Given the description of an element on the screen output the (x, y) to click on. 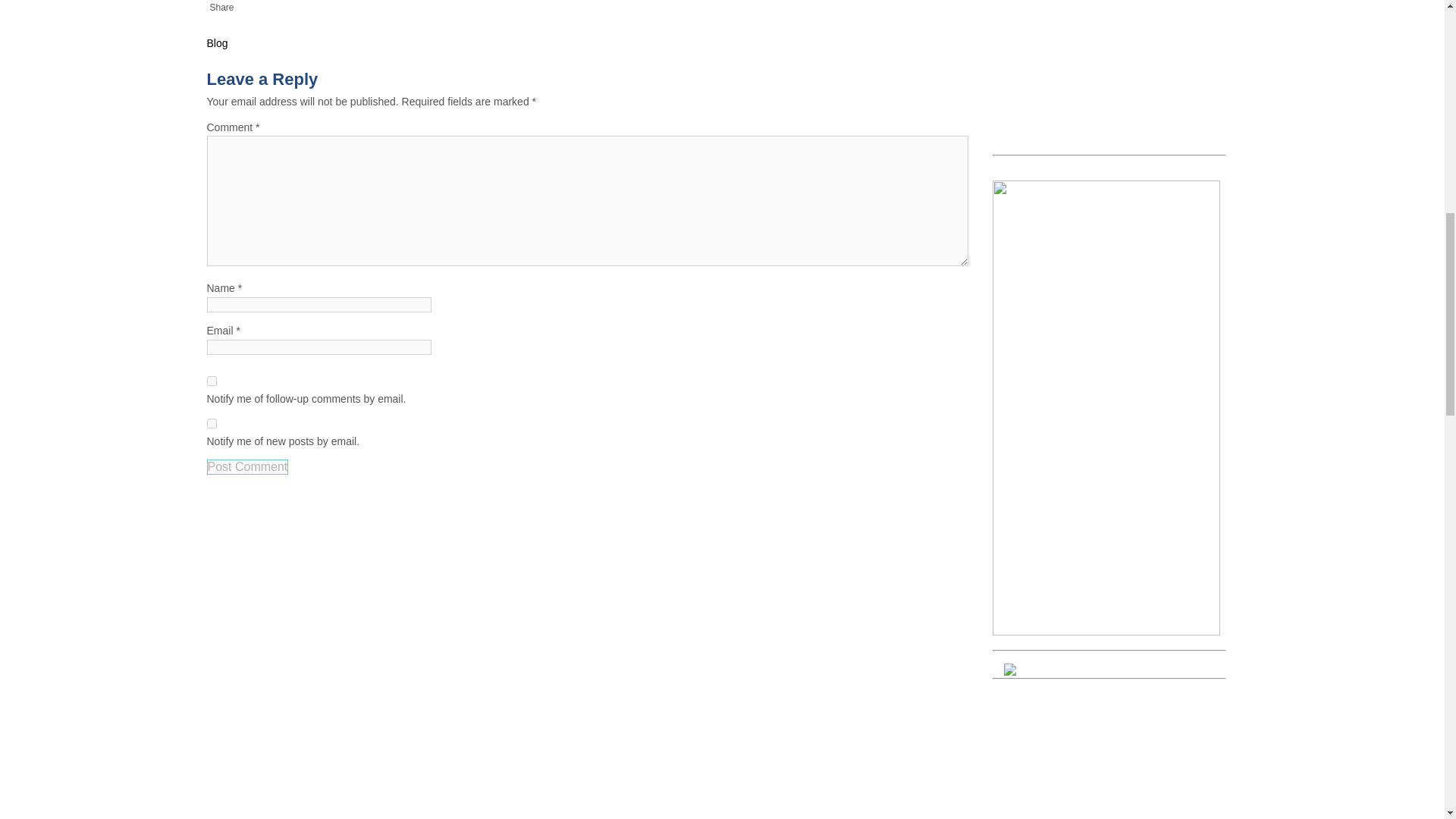
Post Comment (247, 467)
Post Comment (247, 467)
Share (220, 7)
Blog (216, 42)
subscribe (210, 423)
subscribe (210, 380)
